Given the description of an element on the screen output the (x, y) to click on. 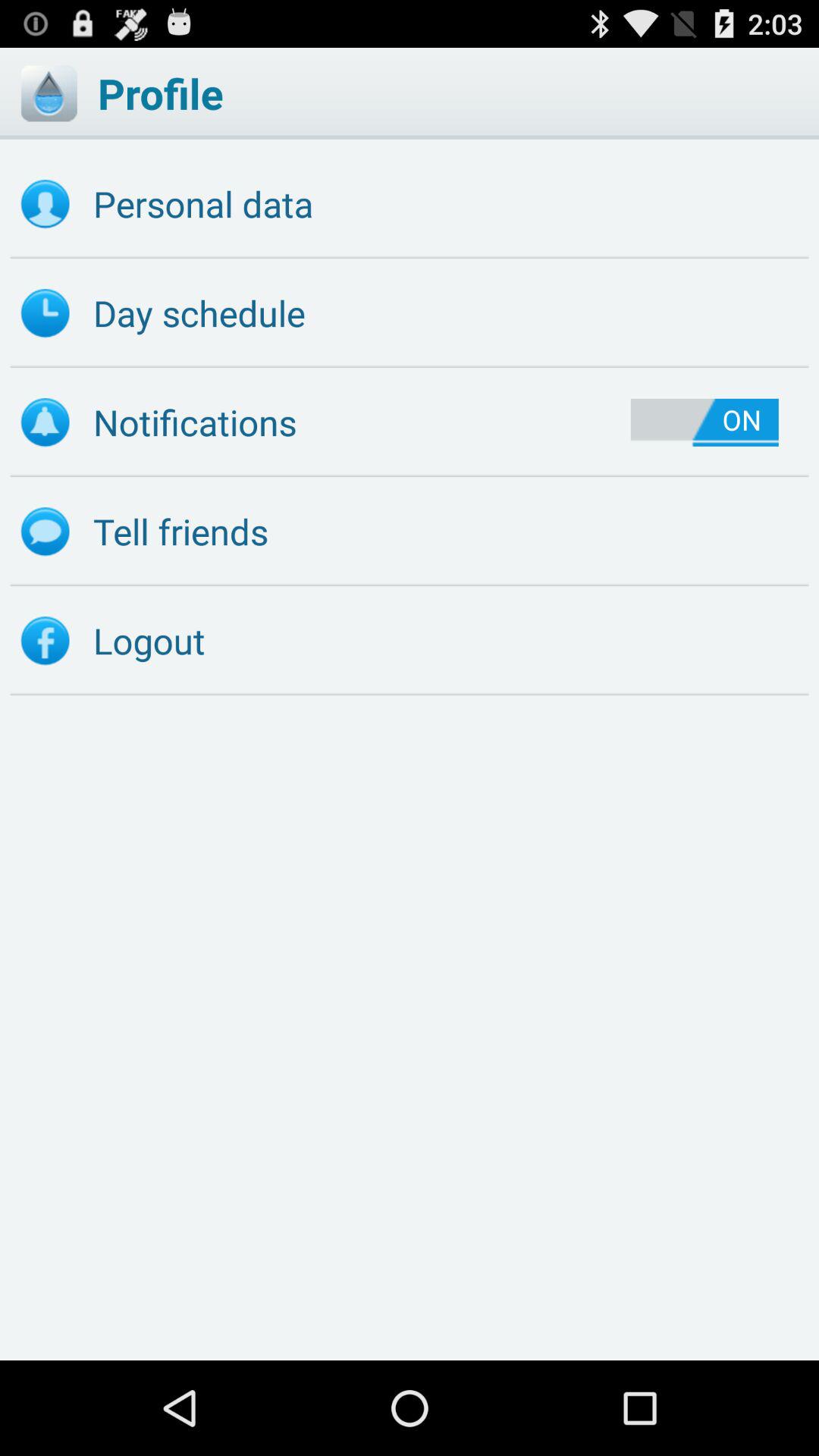
select button next to the notifications button (704, 422)
